Given the description of an element on the screen output the (x, y) to click on. 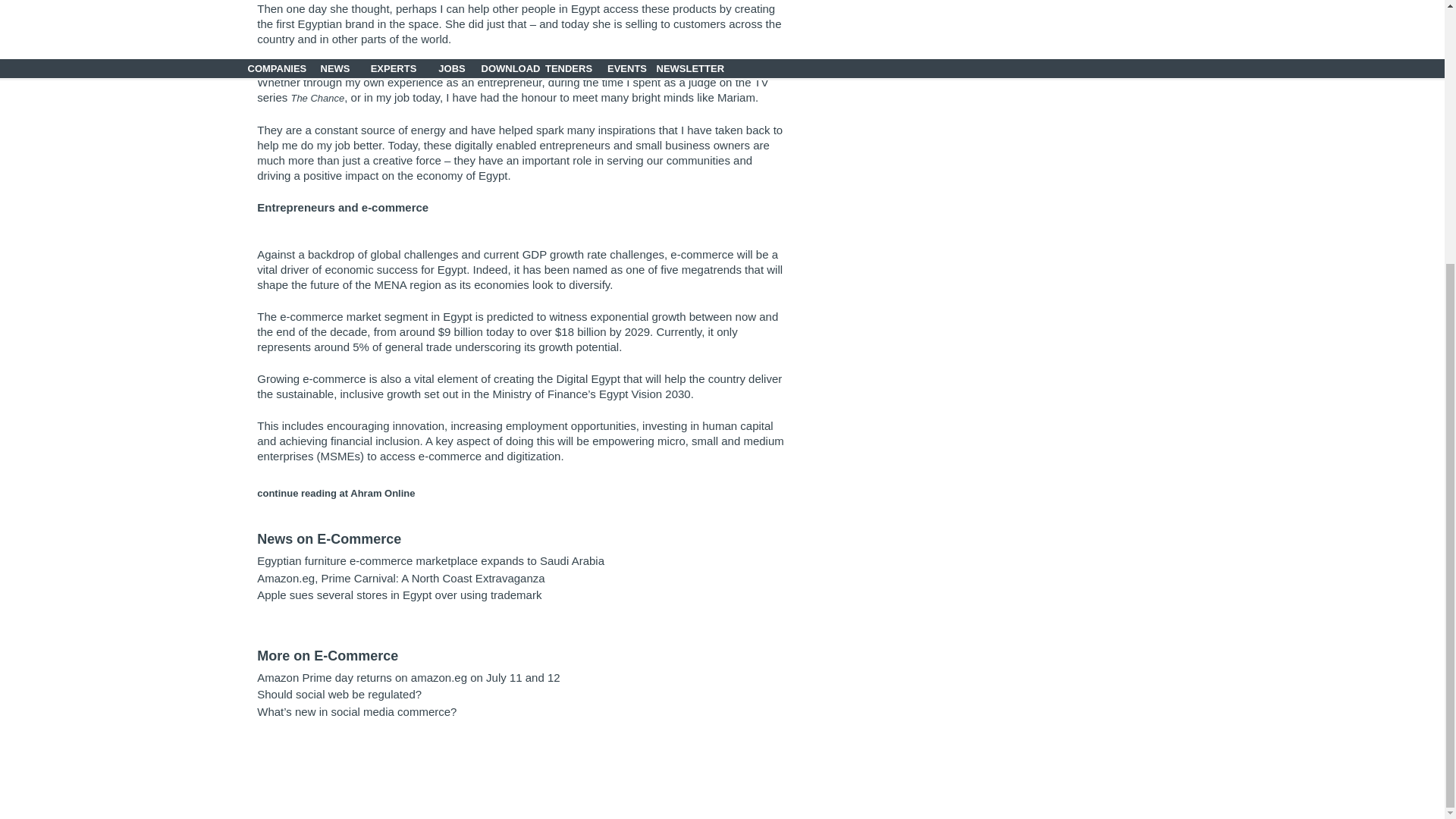
Should social web be regulated? (339, 694)
News on E-Commerce (329, 539)
More on E-Commerce (327, 655)
Amazon.eg, Prime Carnival: A North Coast Extravaganza (400, 576)
Amazon Prime day returns on amazon.eg on July 11 and 12 (408, 676)
continue reading at Ahram Online (335, 492)
Apple sues several stores in Egypt over using trademark (399, 594)
